Given the description of an element on the screen output the (x, y) to click on. 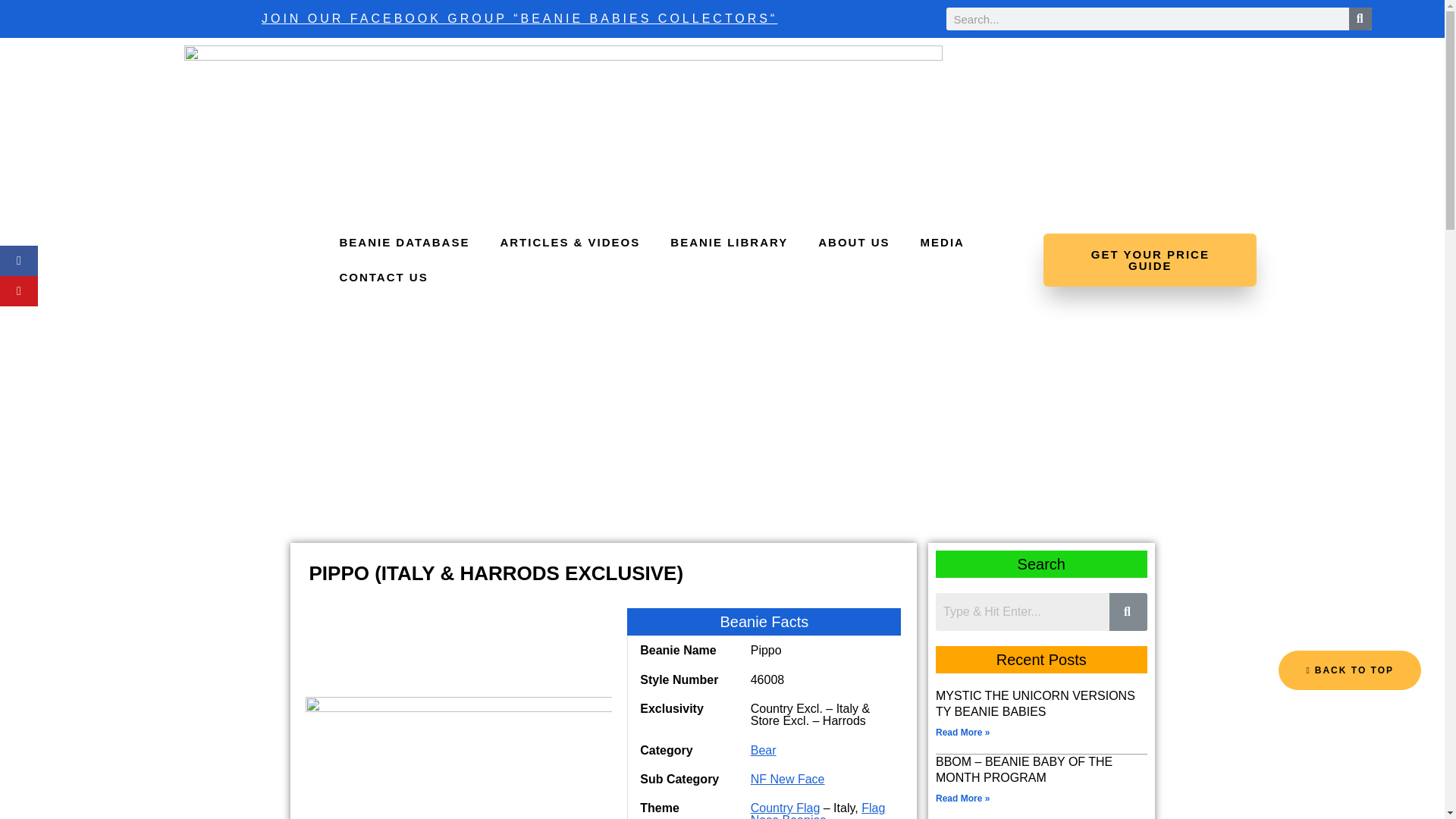
MEDIA (942, 242)
Flag Nose Beanies (818, 810)
ABOUT US (853, 242)
CONTACT US (382, 277)
GET YOUR PRICE GUIDE (1149, 259)
BEANIE LIBRARY (729, 242)
BEANIE DATABASE (403, 242)
NF New Face (788, 779)
SEARCH (1360, 18)
Country Flag (786, 807)
Search (1022, 611)
Bear (763, 748)
